Given the description of an element on the screen output the (x, y) to click on. 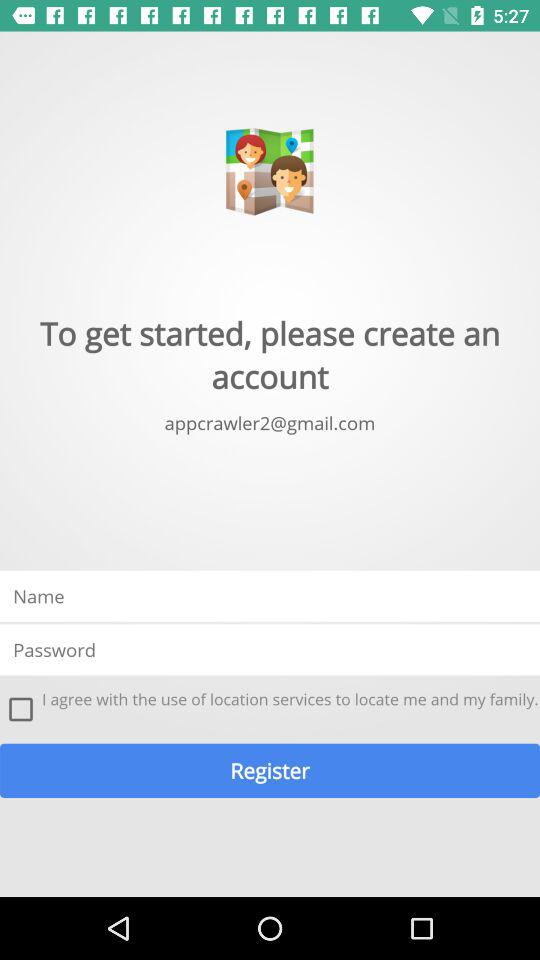
press icon to the left of the i agree with item (21, 709)
